Given the description of an element on the screen output the (x, y) to click on. 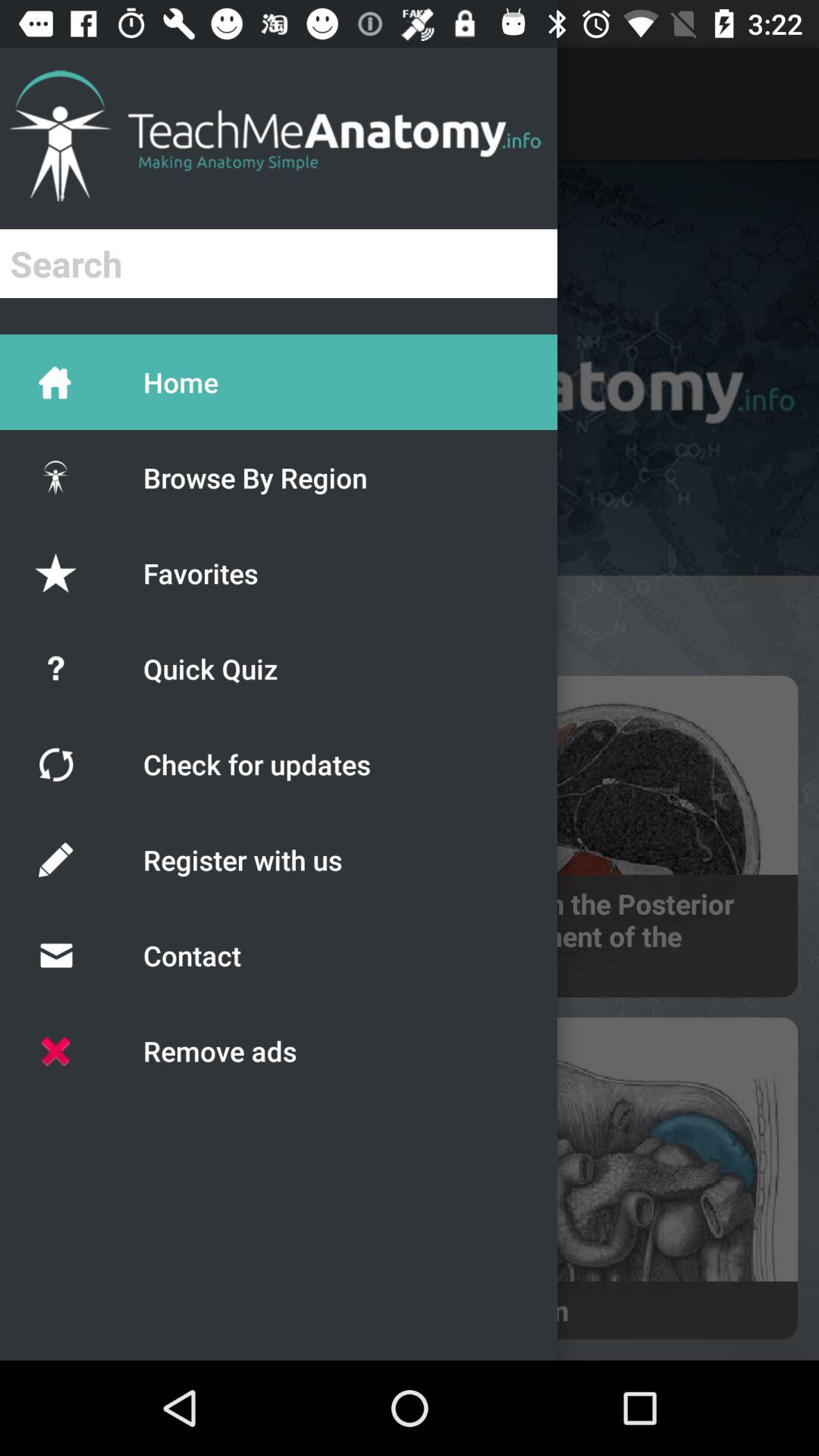
click on the image which is at bottom right corner (608, 1178)
click on the first image (608, 836)
